Given the description of an element on the screen output the (x, y) to click on. 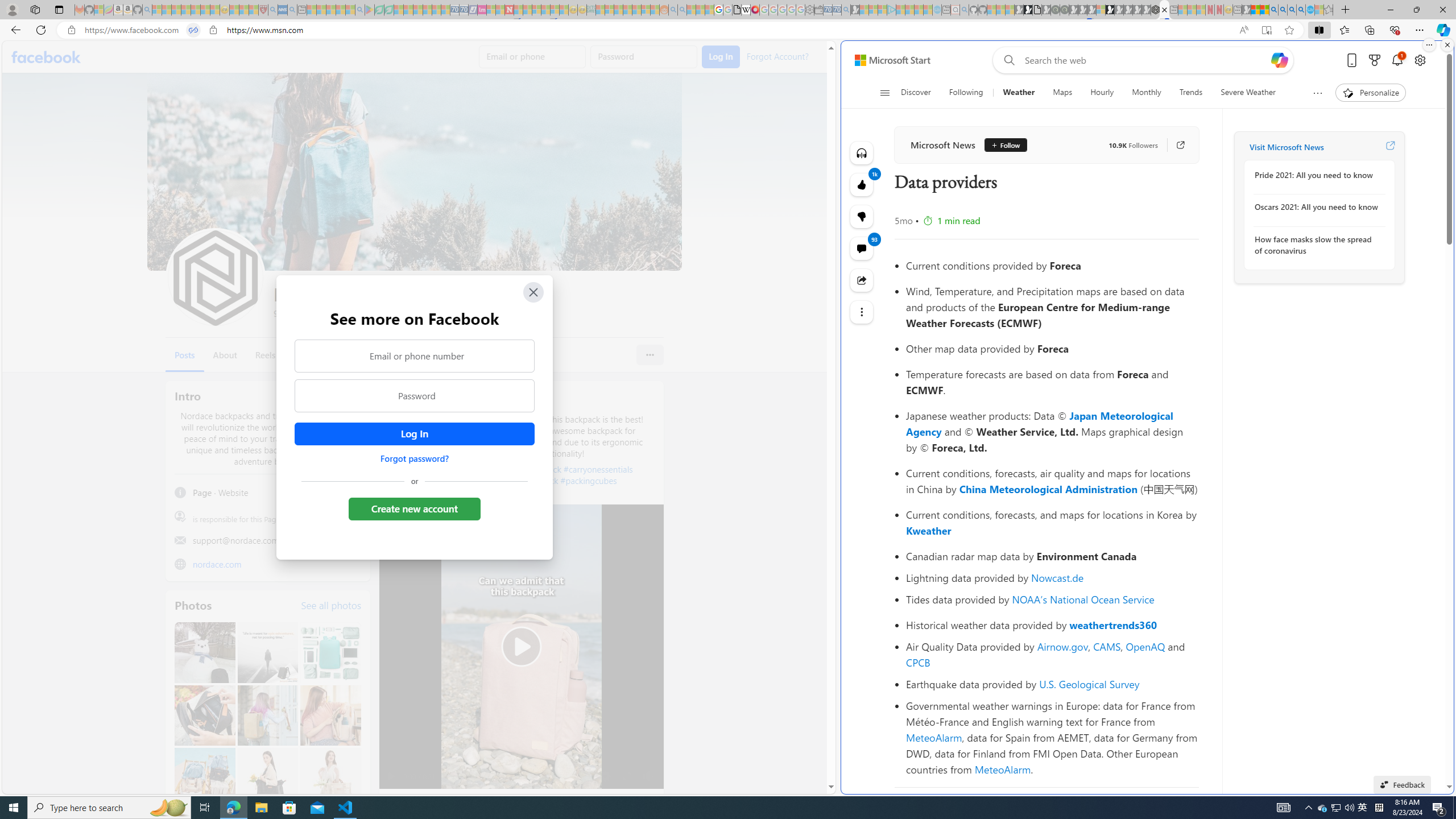
Services - Maintenance | Sky Blue Bikes - Sky Blue Bikes (1309, 9)
Trends (1190, 92)
Hourly (1101, 92)
Dislike (861, 216)
Email or phone (532, 56)
Home | Sky Blue Bikes - Sky Blue Bikes - Sleeping (936, 9)
Settings and more (Alt+F) (1419, 29)
1k Like (861, 184)
Favorites - Sleeping (1328, 9)
Forgot Account? (776, 55)
